Given the description of an element on the screen output the (x, y) to click on. 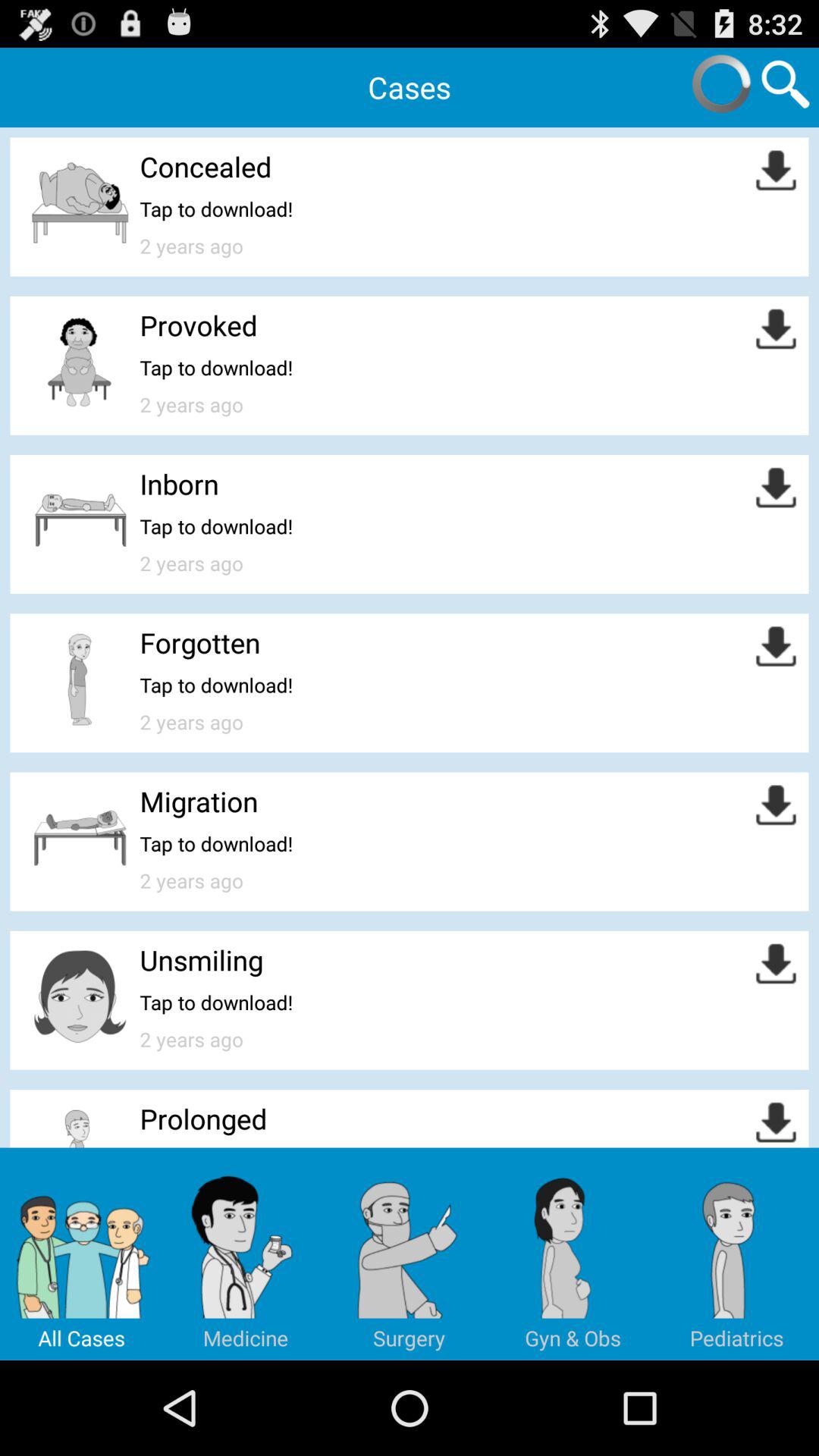
choose the prolonged icon (203, 1118)
